Given the description of an element on the screen output the (x, y) to click on. 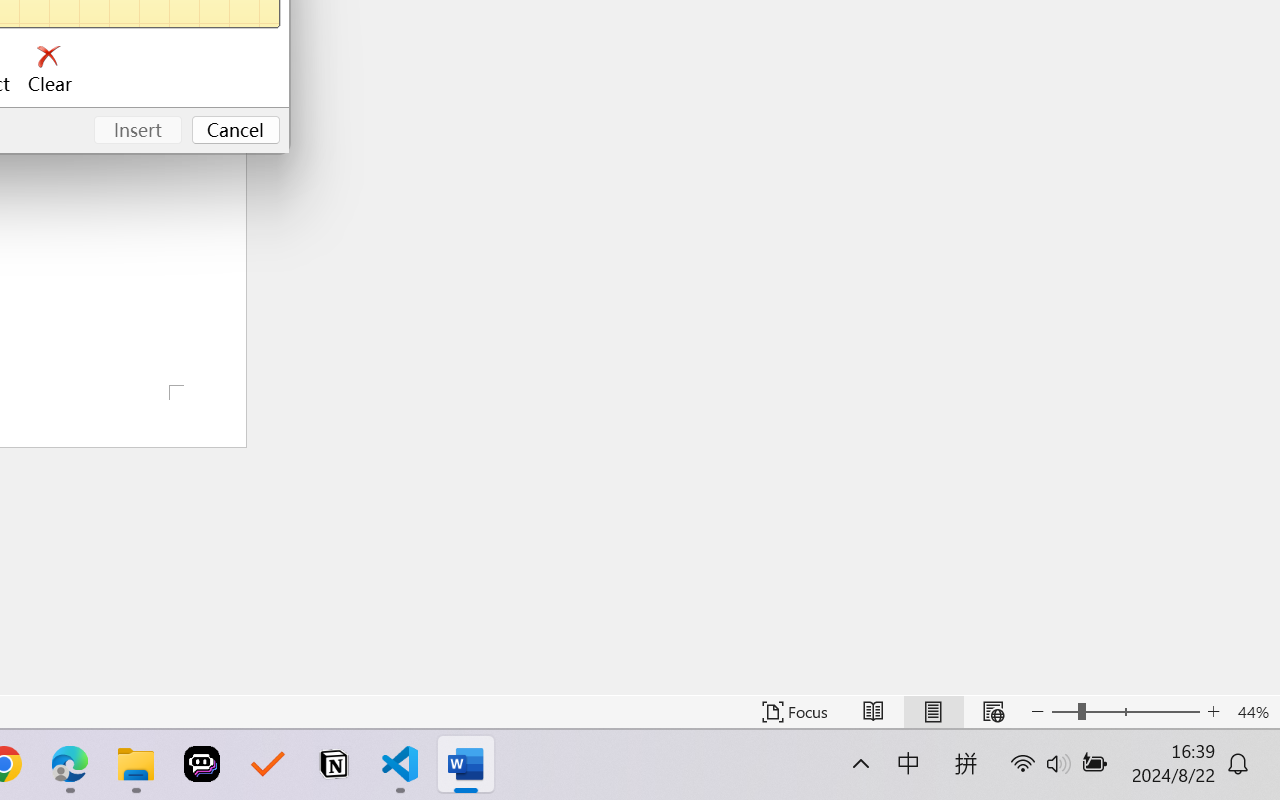
Clear (49, 69)
Poe (201, 764)
Notion (333, 764)
Cancel (235, 129)
